Given the description of an element on the screen output the (x, y) to click on. 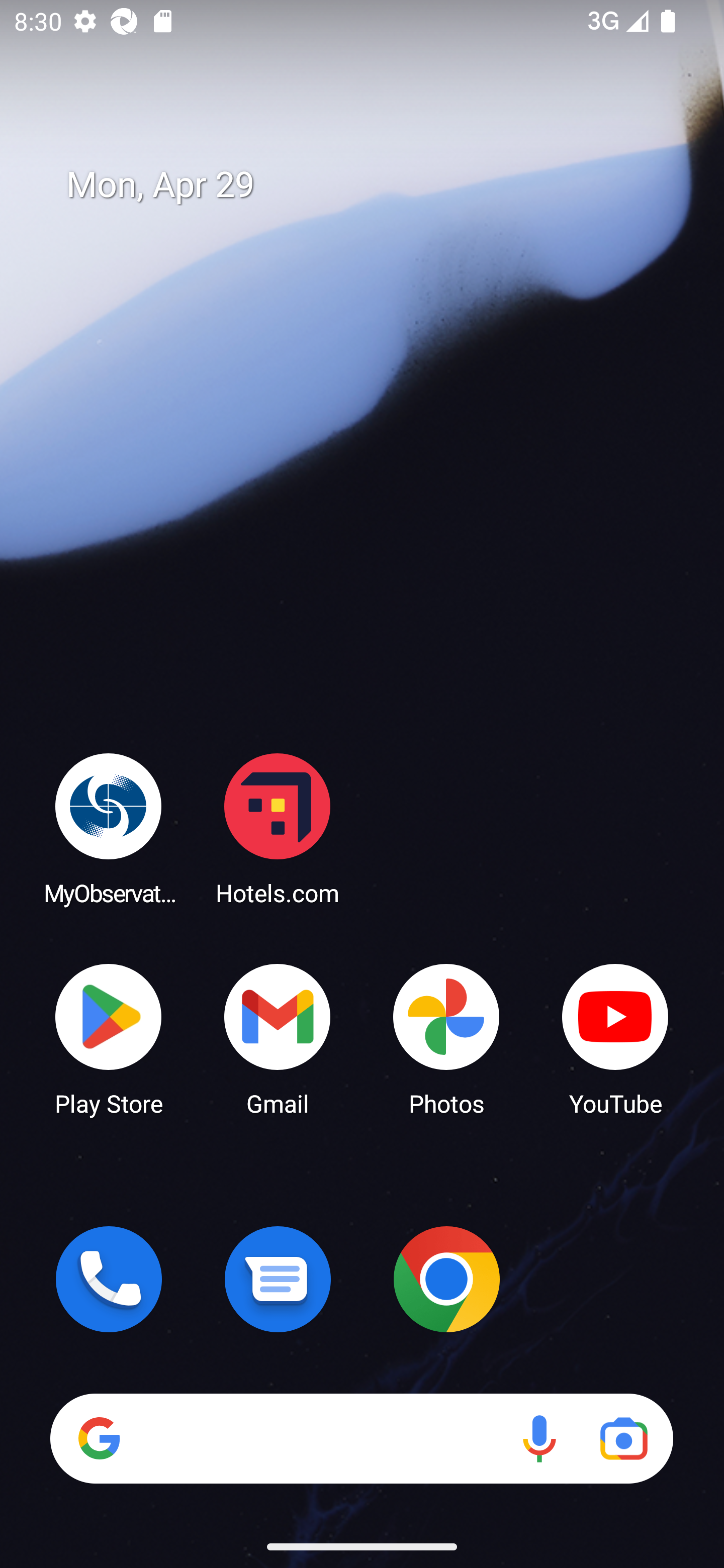
Mon, Apr 29 (375, 184)
MyObservatory (108, 828)
Hotels.com (277, 828)
Play Store (108, 1038)
Gmail (277, 1038)
Photos (445, 1038)
YouTube (615, 1038)
Phone (108, 1279)
Messages (277, 1279)
Chrome (446, 1279)
Search Voice search Google Lens (361, 1438)
Voice search (539, 1438)
Google Lens (623, 1438)
